Given the description of an element on the screen output the (x, y) to click on. 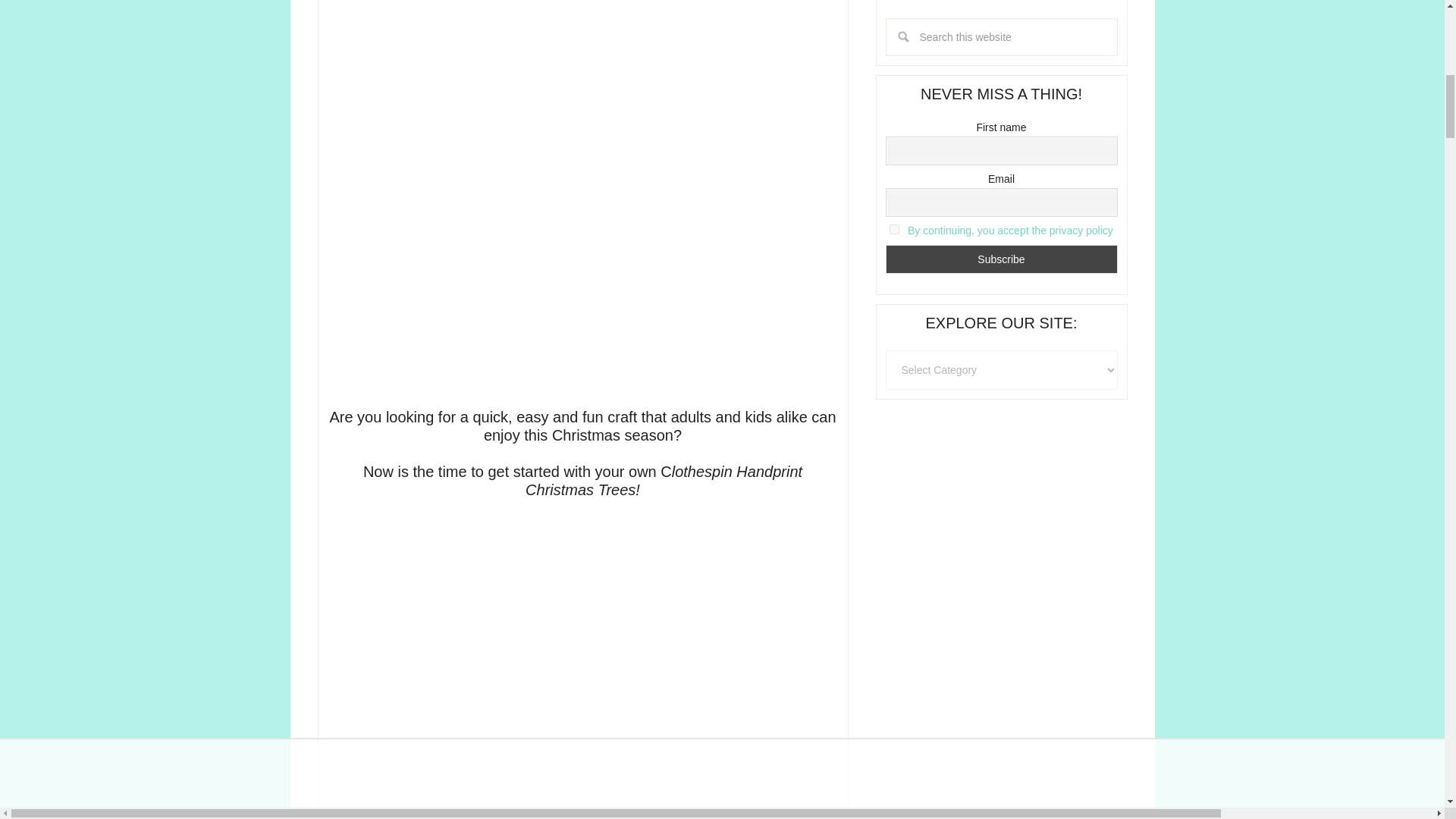
on (894, 229)
Subscribe (1001, 258)
